Given the description of an element on the screen output the (x, y) to click on. 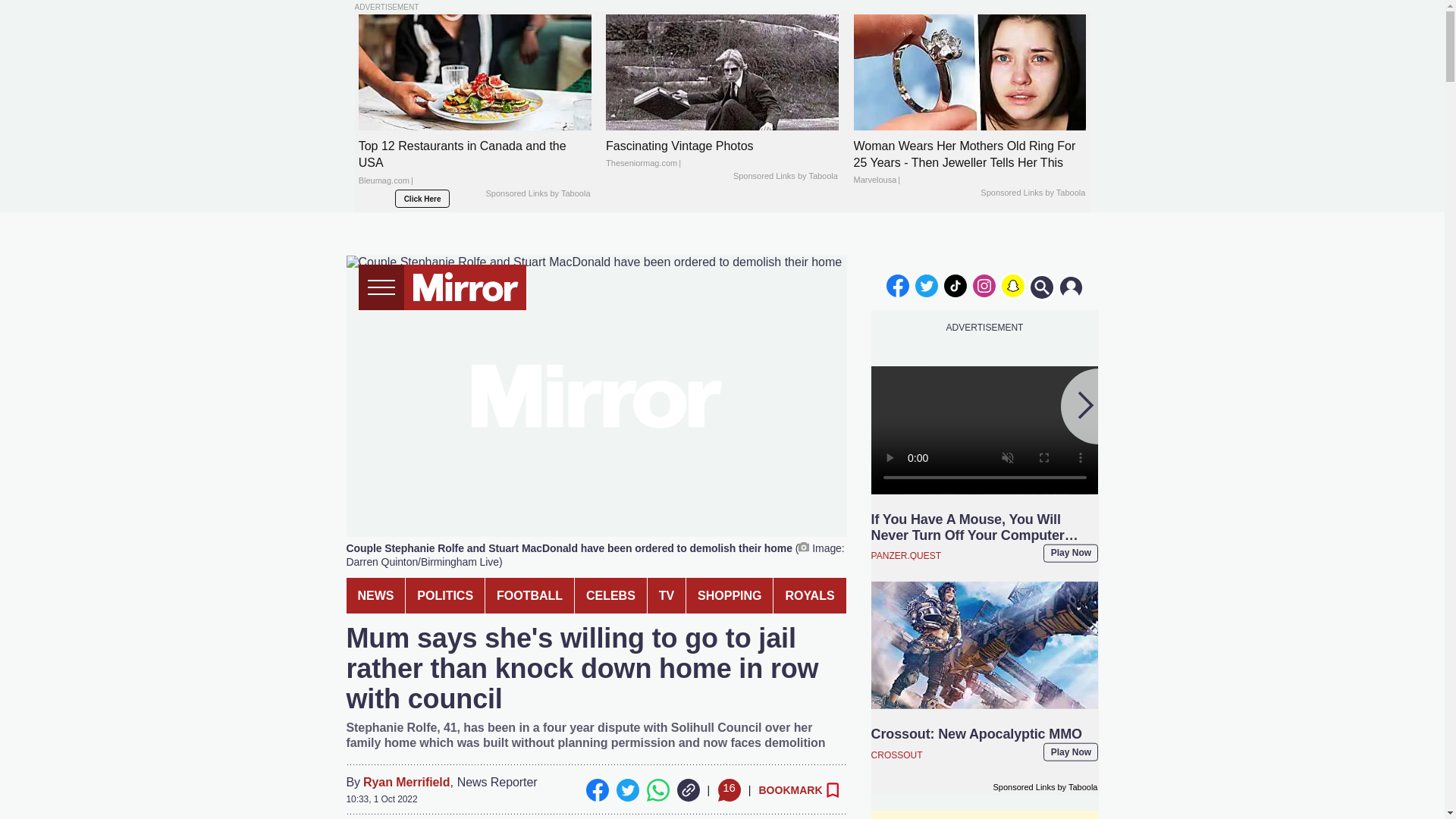
Fascinating Vintage Photos (721, 72)
Sponsored Links by Taboola (1031, 193)
Sponsored Links by Taboola (785, 176)
Sponsored Links by Taboola (536, 194)
Top 12 Restaurants in Canada and the USA (474, 168)
facebook (897, 285)
Click Here (421, 198)
Top 12 Restaurants in Canada and the USA (474, 72)
Fascinating Vintage Photos (721, 154)
